Given the description of an element on the screen output the (x, y) to click on. 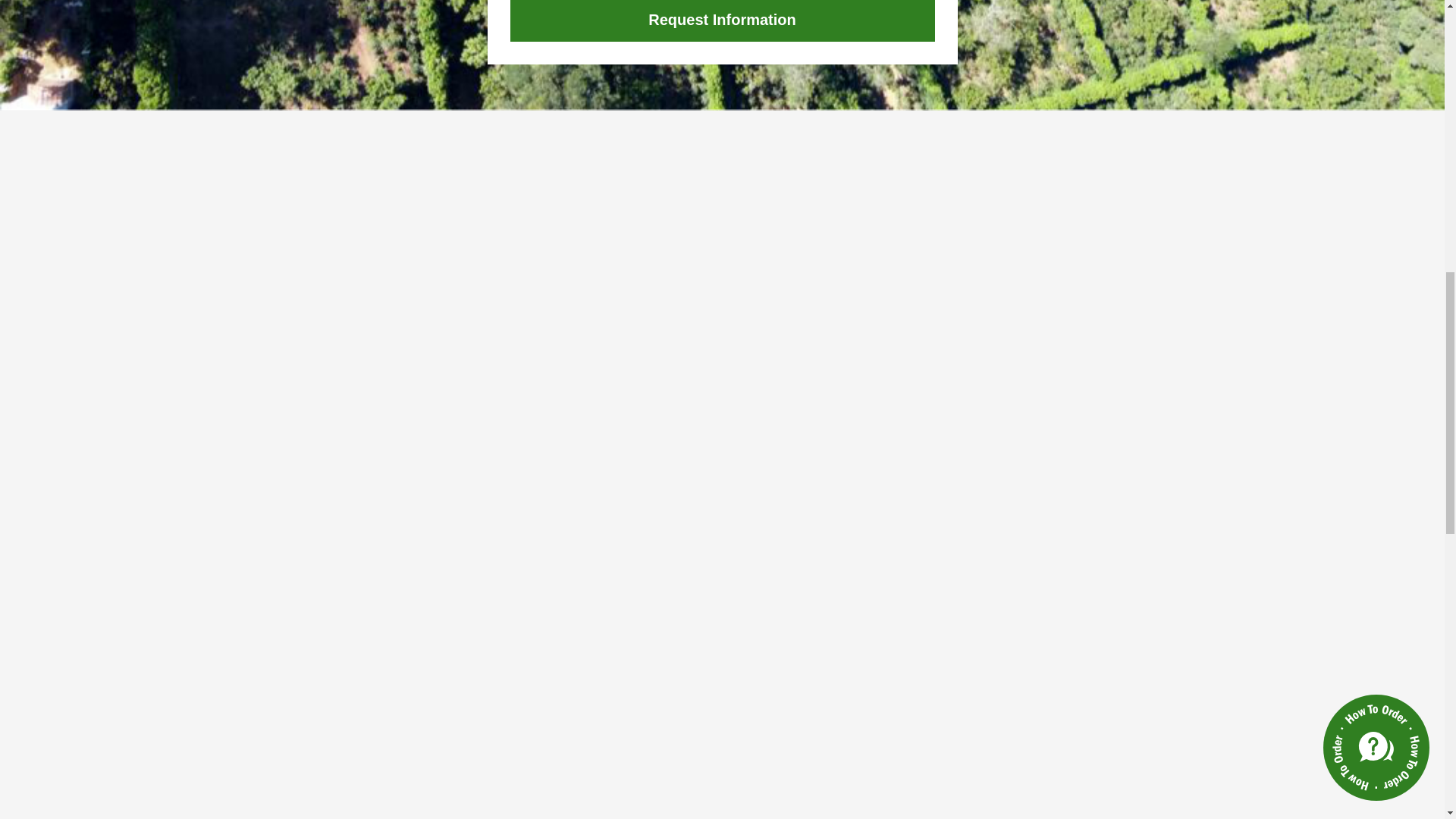
Request Information (721, 20)
